Given the description of an element on the screen output the (x, y) to click on. 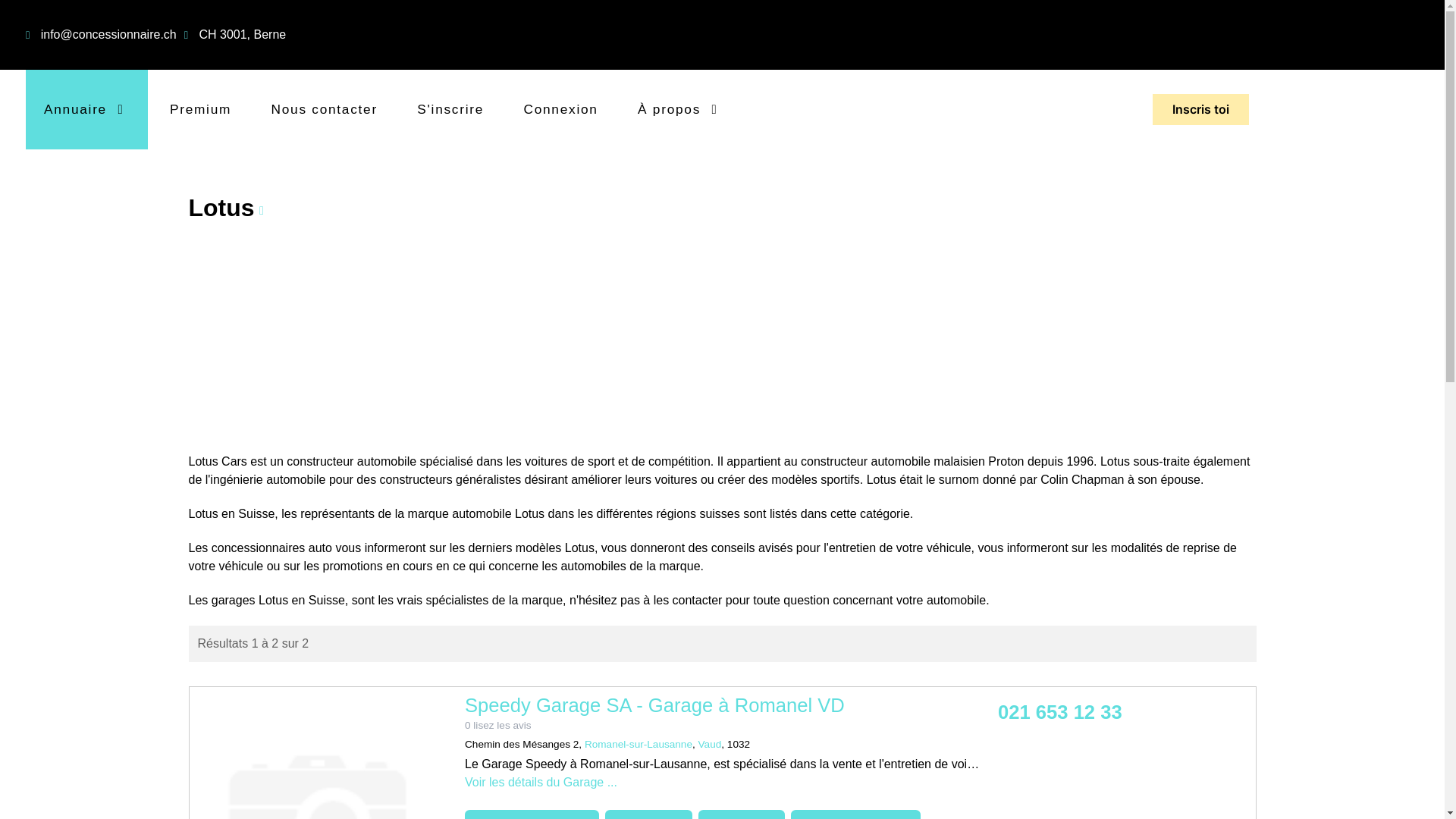
Romanel-sur-Lausanne Element type: text (638, 743)
Vaud Element type: text (709, 743)
Premium Element type: text (200, 109)
Annuaire Element type: text (86, 109)
info@concessionnaire.ch Element type: text (108, 34)
Advertisement Element type: hover (721, 337)
Inscris toi Element type: text (1200, 109)
Connexion Element type: text (560, 109)
Nous contacter Element type: text (324, 109)
021 653 12 33 Element type: text (1059, 711)
S'inscrire Element type: text (450, 109)
